Given the description of an element on the screen output the (x, y) to click on. 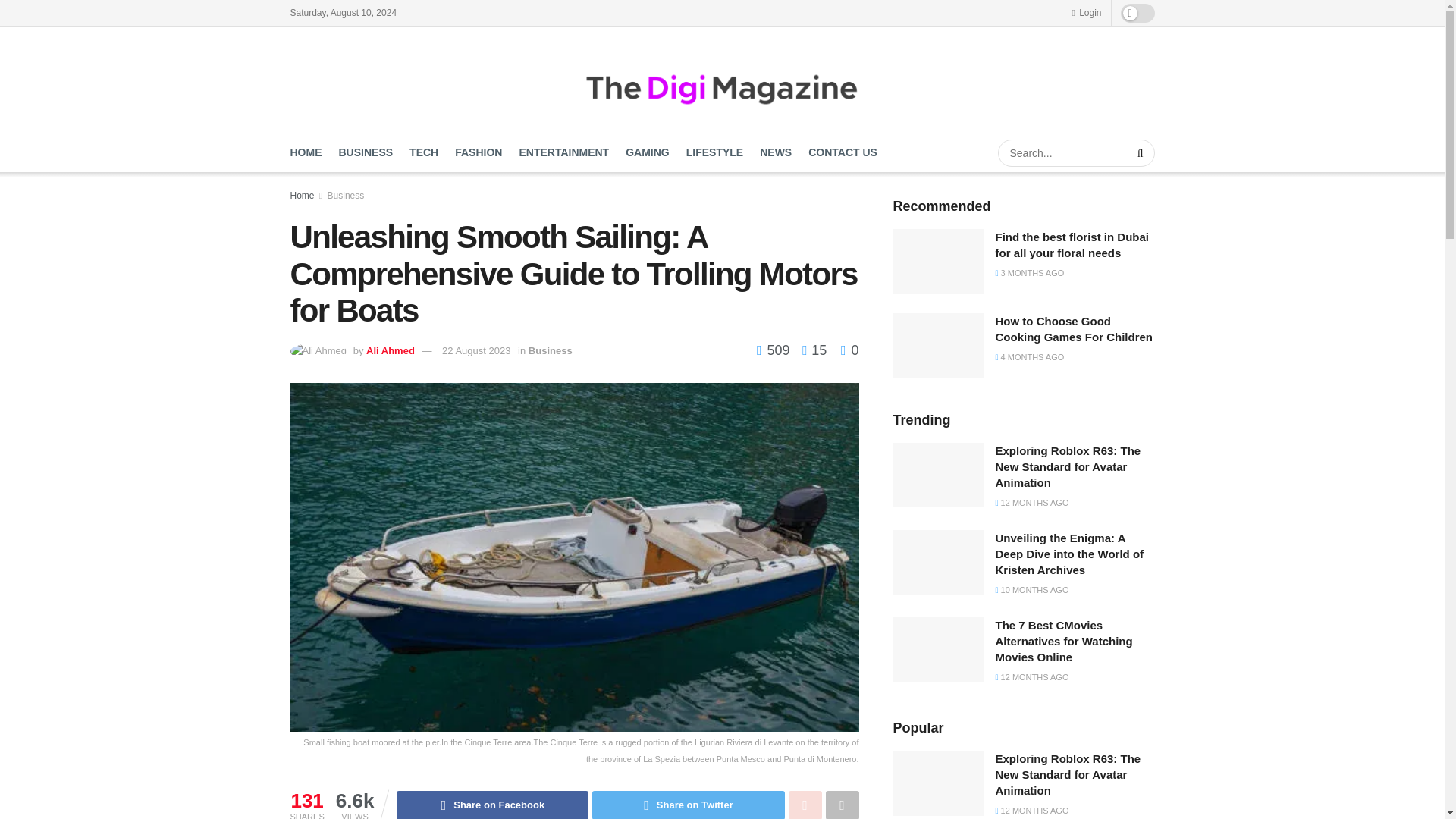
Login (1085, 12)
0 (850, 350)
LIFESTYLE (713, 152)
Ali Ahmed (390, 350)
509 (775, 350)
GAMING (647, 152)
15 (810, 350)
Share on Twitter (688, 805)
CONTACT US (842, 152)
Business (550, 350)
